Given the description of an element on the screen output the (x, y) to click on. 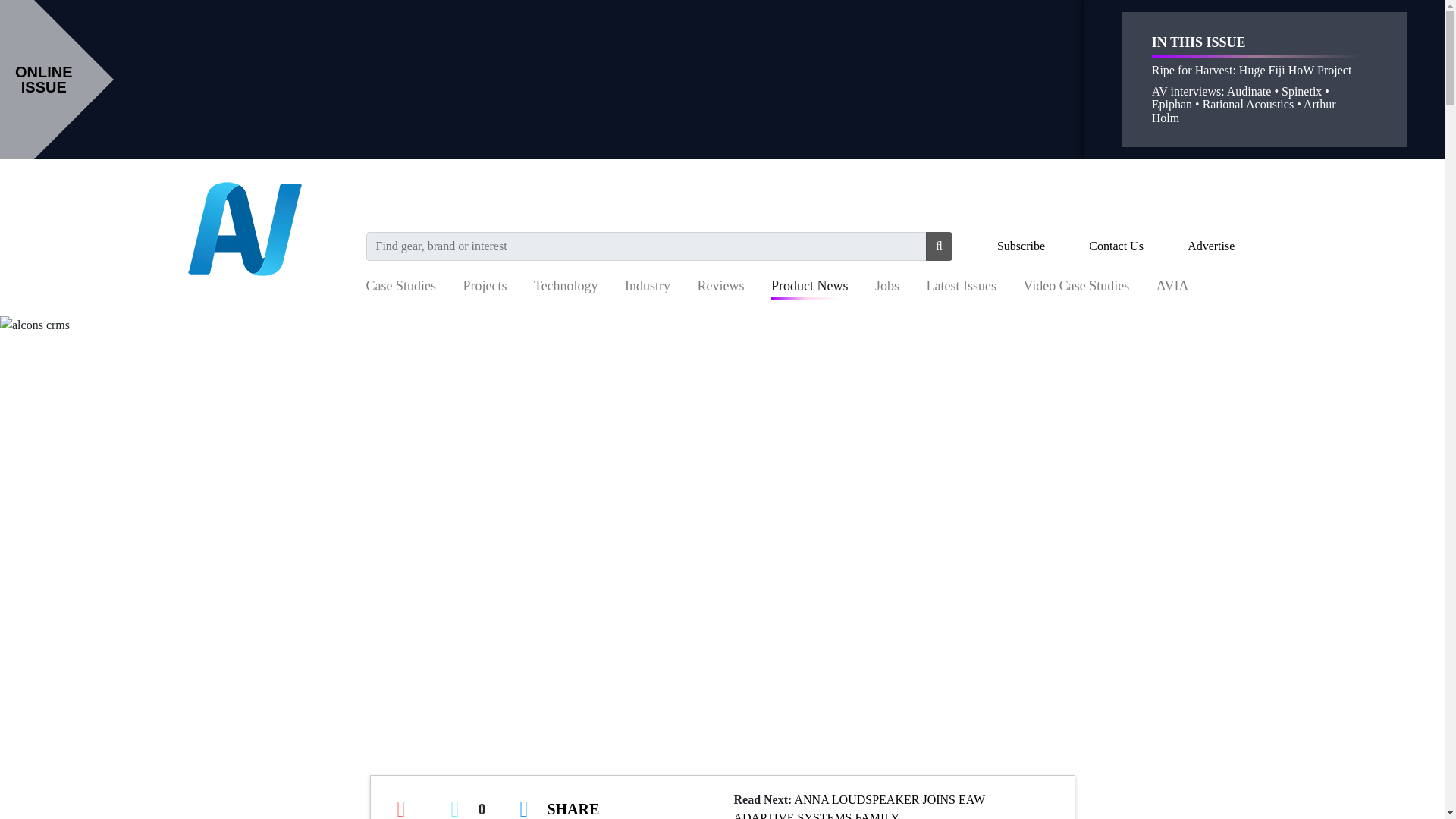
Epiphan (1171, 103)
Audinate (1249, 91)
Rational Acoustic (1245, 103)
Ripe for Harvest: Huge Fiji HoW Project (1251, 69)
Arthur Holm (1243, 110)
Spinetix (1301, 91)
